Given the description of an element on the screen output the (x, y) to click on. 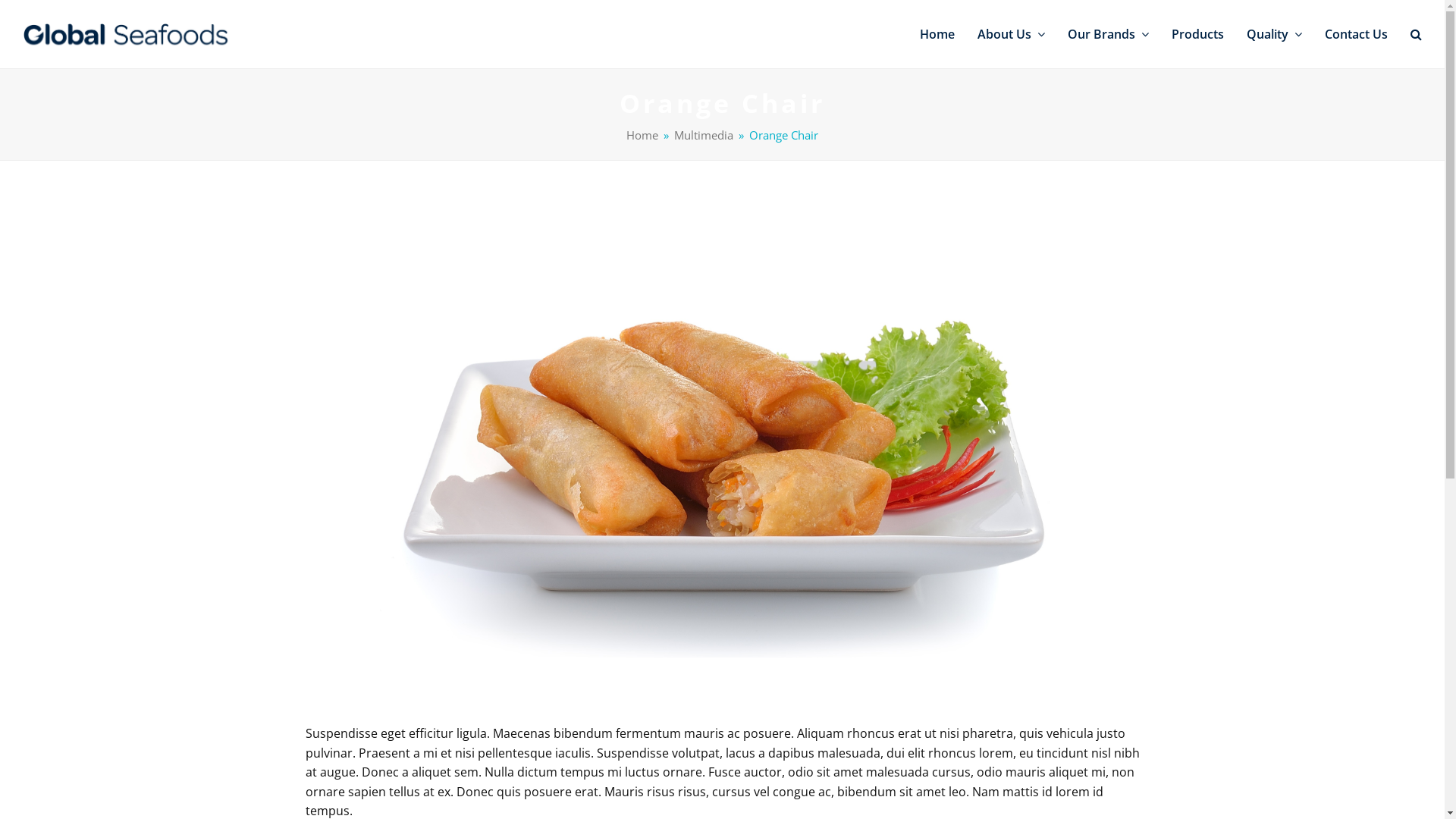
Products Element type: text (1197, 34)
Multimedia Element type: text (703, 134)
Home Element type: text (642, 134)
Contact Us Element type: text (1356, 34)
Our Brands Element type: text (1108, 34)
Quality Element type: text (1274, 34)
Home Element type: text (937, 34)
About Us Element type: text (1011, 34)
